Given the description of an element on the screen output the (x, y) to click on. 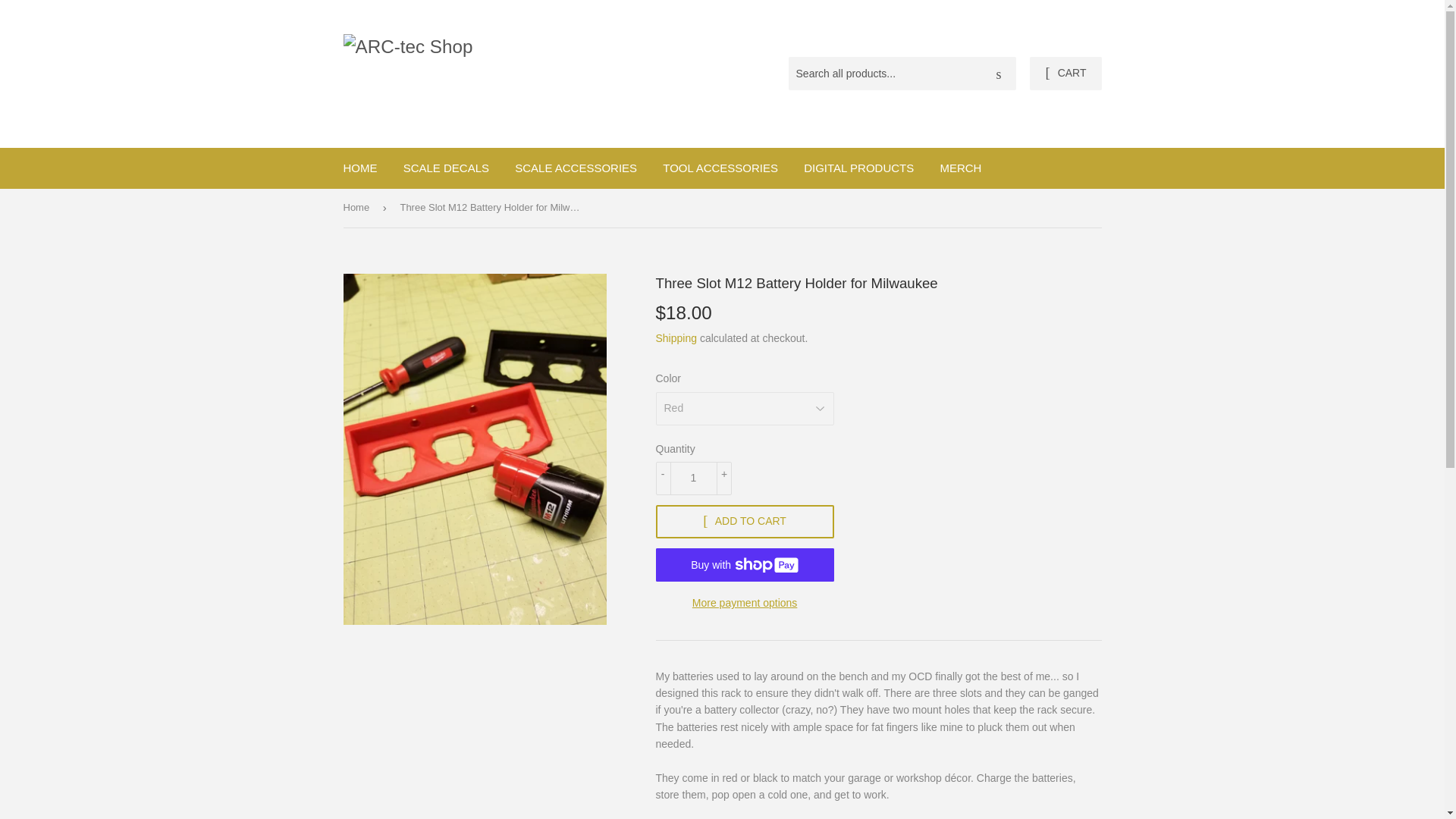
HOME (359, 168)
SCALE DECALS (445, 168)
SCALE ACCESSORIES (575, 168)
CART (1064, 73)
Search (998, 74)
1 (692, 478)
